Given the description of an element on the screen output the (x, y) to click on. 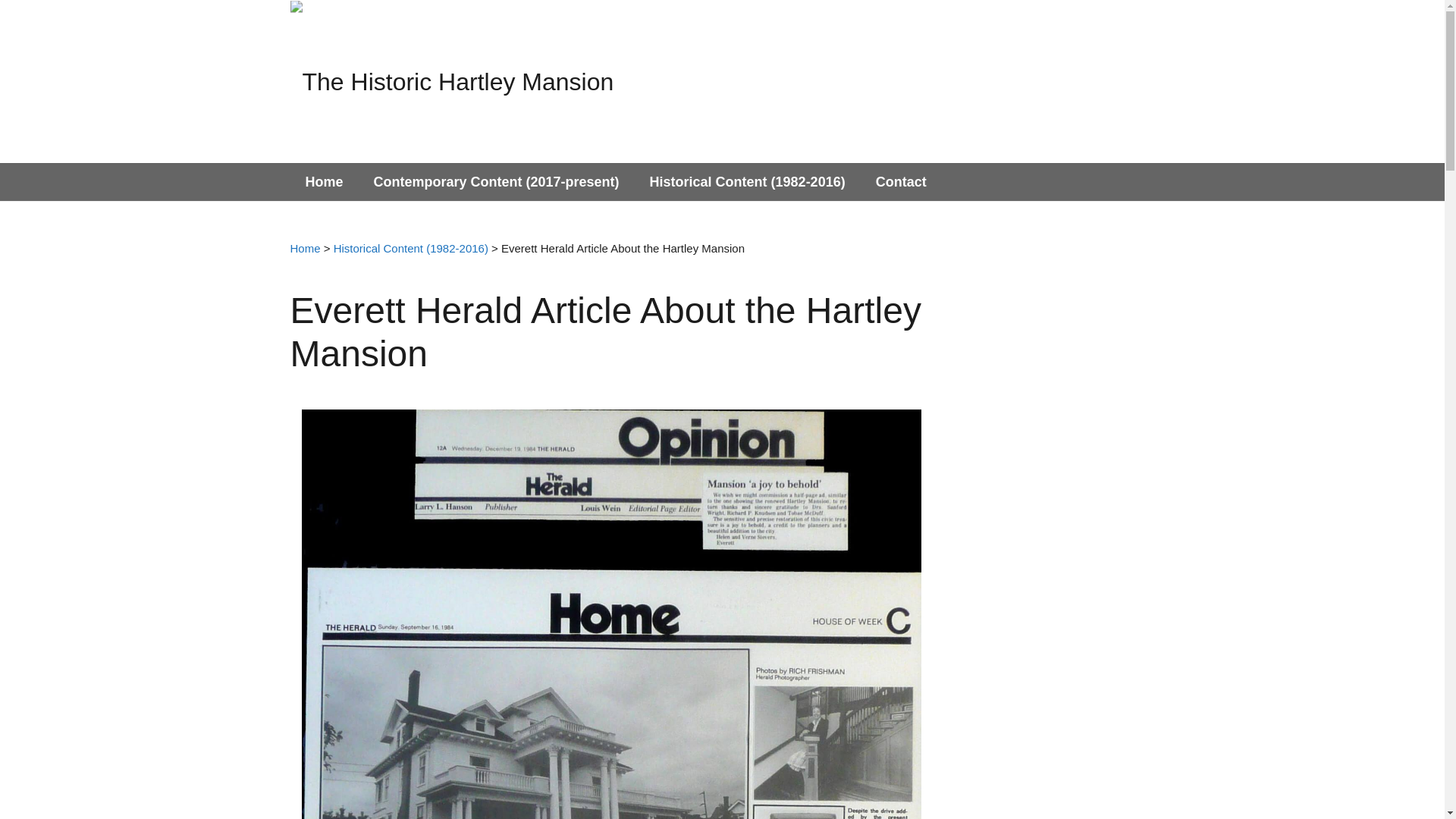
Go to The Historic Hartley Mansion. (304, 247)
Home (304, 247)
Contact (901, 181)
Home (323, 181)
